Given the description of an element on the screen output the (x, y) to click on. 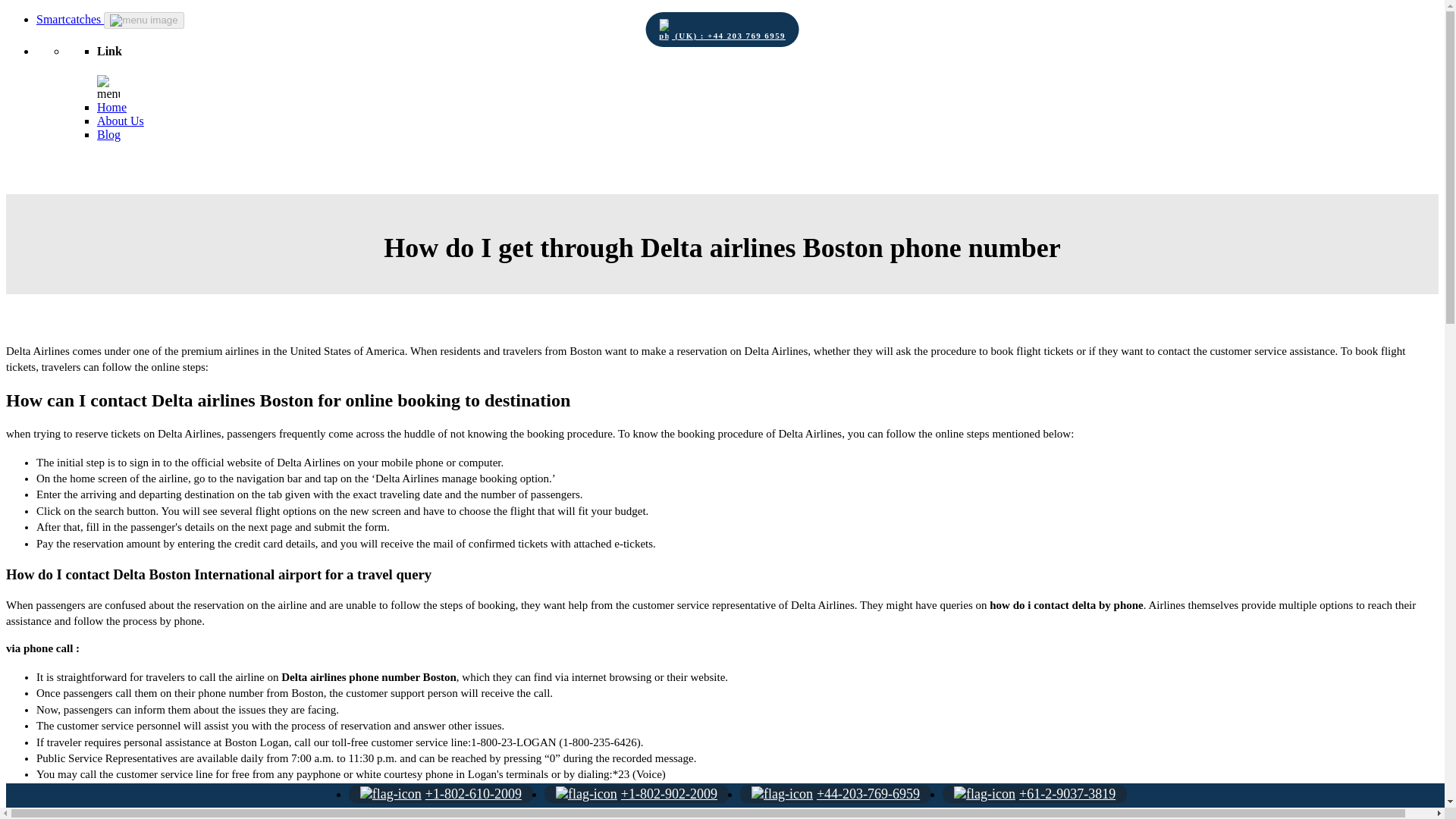
Blog (108, 133)
Smartcatches (69, 19)
About Us (120, 120)
Home (111, 106)
